Given the description of an element on the screen output the (x, y) to click on. 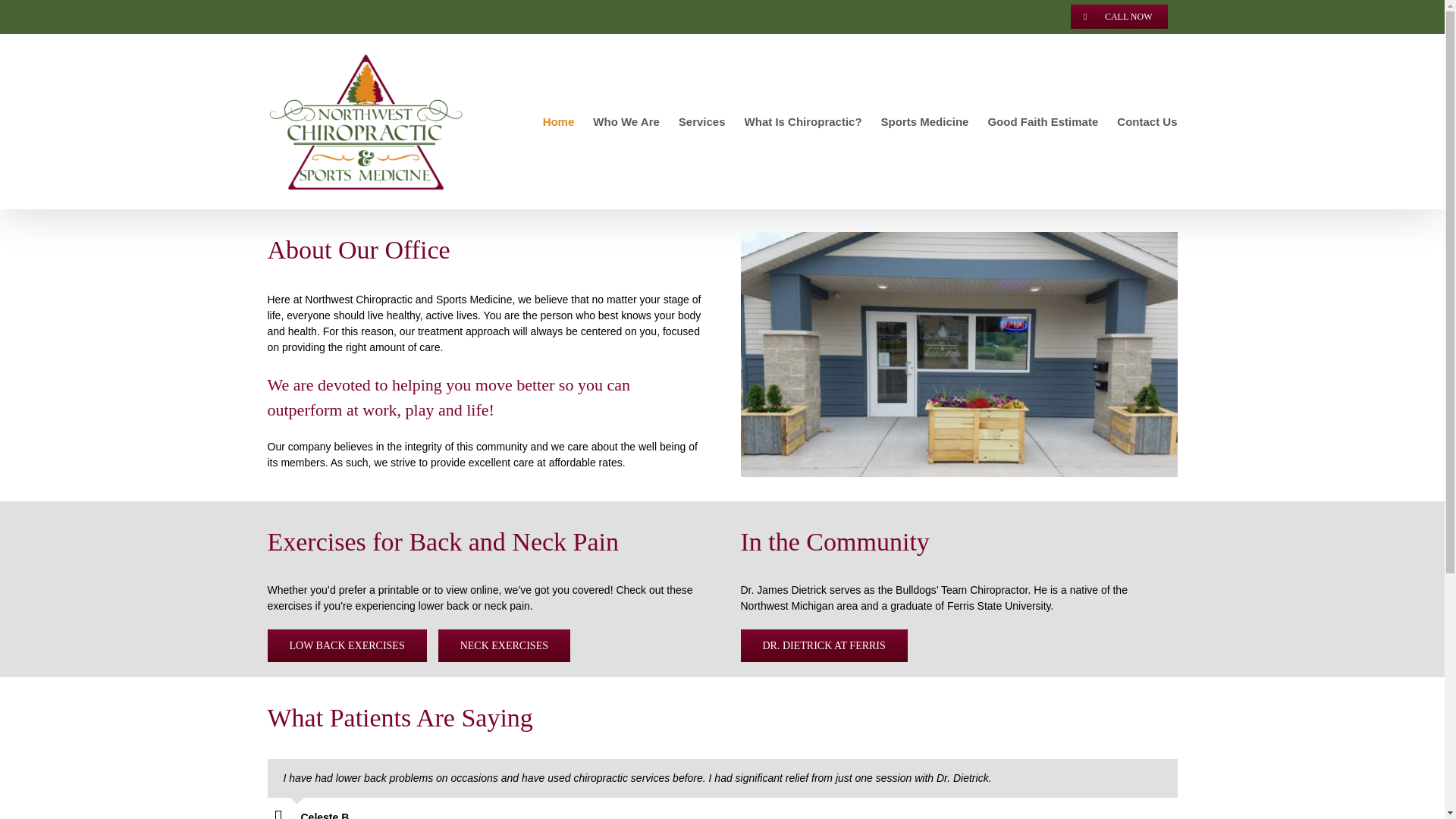
CALL NOW (1119, 16)
DR. DIETRICK AT FERRIS (823, 645)
LOW BACK EXERCISES (346, 645)
NECK EXERCISES (504, 645)
